Given the description of an element on the screen output the (x, y) to click on. 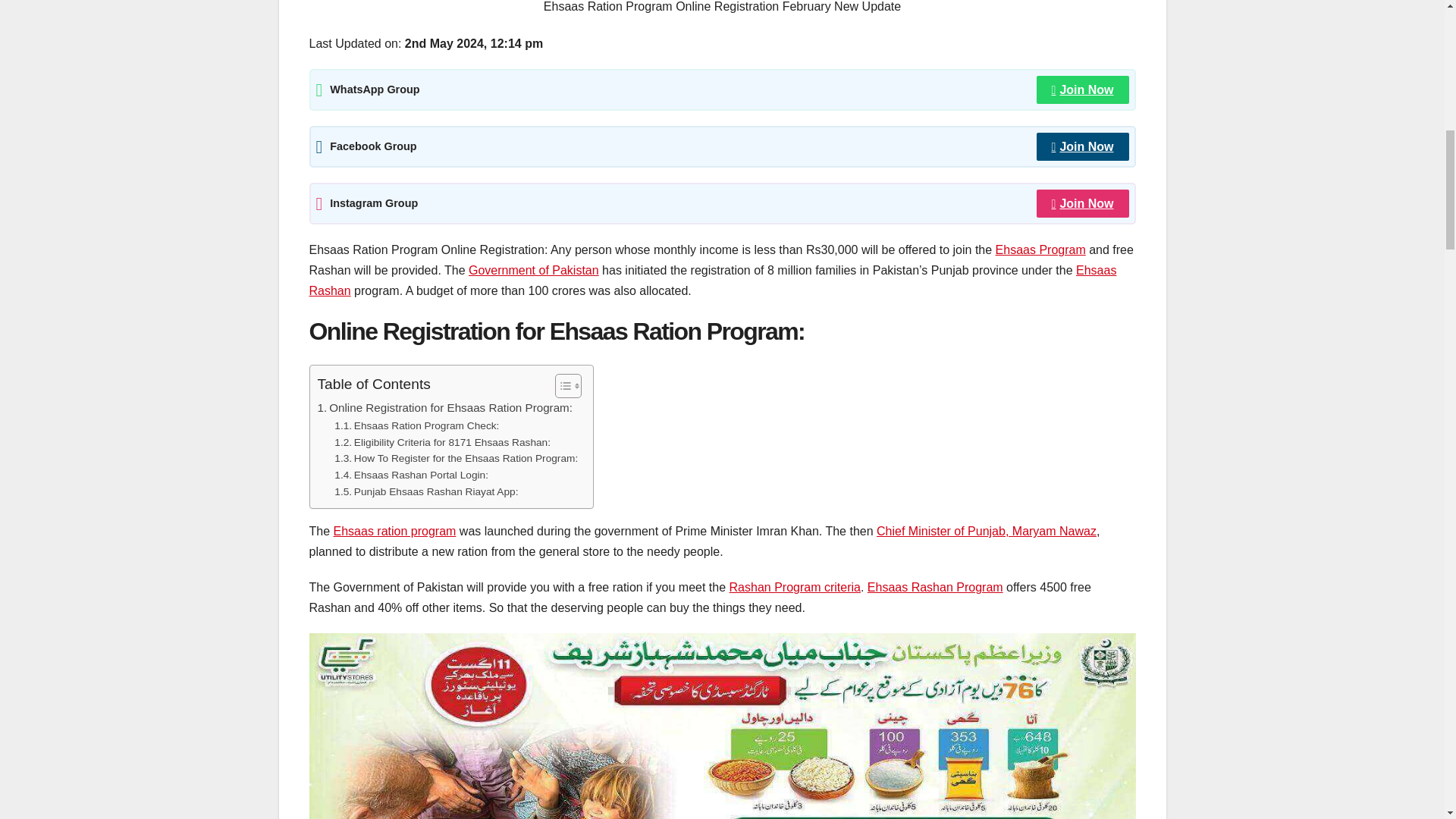
Ehsaas Ration Program Check: (416, 425)
Ehsaas Rashan Program (935, 586)
Ehsaas Rashan Portal Login: (410, 475)
Rashan Program criteria (794, 586)
Ehsaas Ration Program Check: (416, 425)
How To Register for the Ehsaas Ration Program: (456, 458)
Ehsaas Rashan (712, 280)
Join Now (1082, 90)
Ehsaas Rashan Portal Login: (410, 475)
How To Register for the Ehsaas Ration Program: (456, 458)
Government of Pakistan (533, 269)
Ehsaas ration program (395, 530)
Punjab Ehsaas Rashan Riayat App: (426, 492)
Online Registration for Ehsaas Ration Program: (444, 407)
Eligibility Criteria for 8171 Ehsaas Rashan: (442, 442)
